Given the description of an element on the screen output the (x, y) to click on. 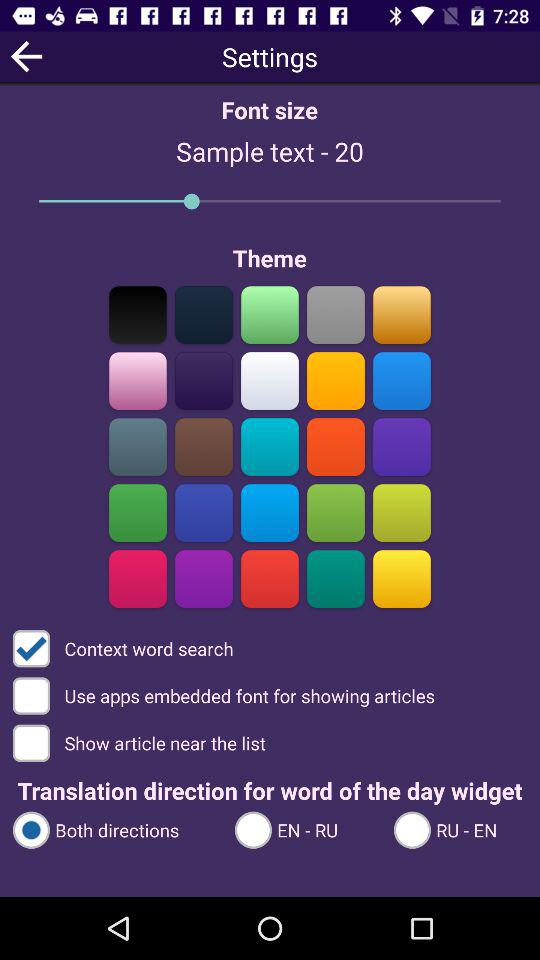
dark purple (203, 578)
